Given the description of an element on the screen output the (x, y) to click on. 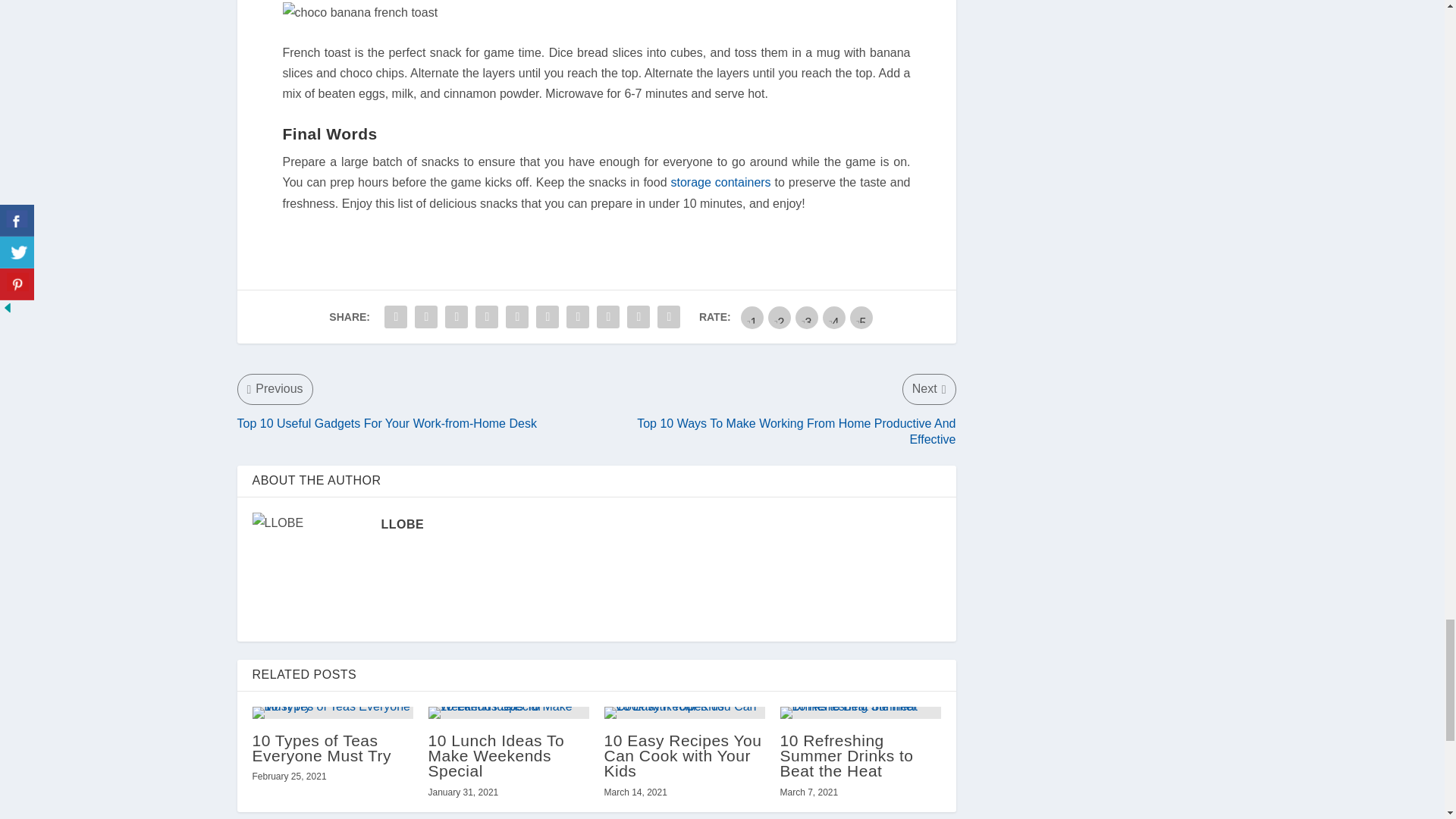
poor (779, 317)
bad (751, 317)
good (833, 317)
regular (806, 317)
